Given the description of an element on the screen output the (x, y) to click on. 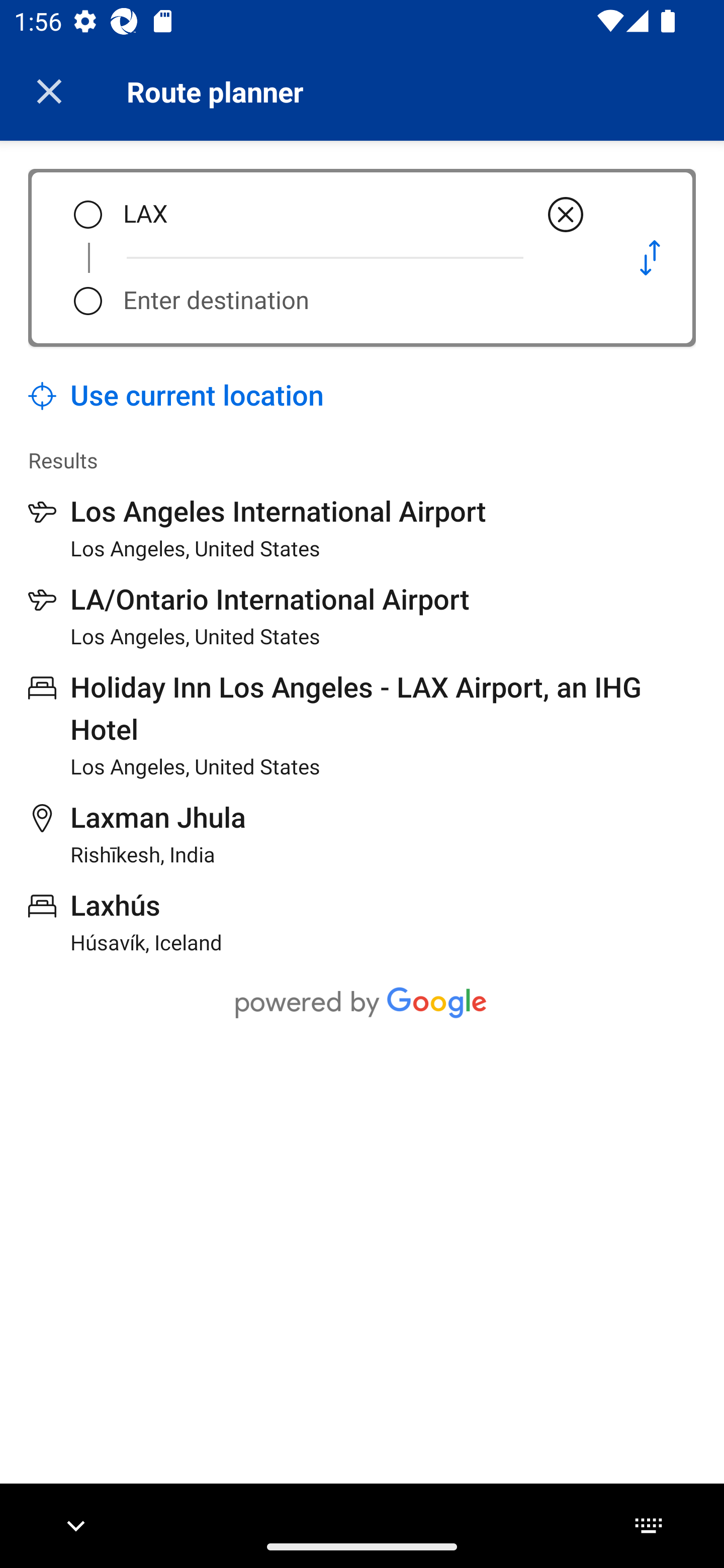
Close (49, 91)
LAX Clear (355, 214)
Clear (565, 214)
Swap pick-up location and destination (650, 257)
Enter destination (355, 300)
Use current location (176, 395)
Laxman Jhula Rishīkesh, India (137, 833)
Laxhús Húsavík, Iceland (125, 921)
